Given the description of an element on the screen output the (x, y) to click on. 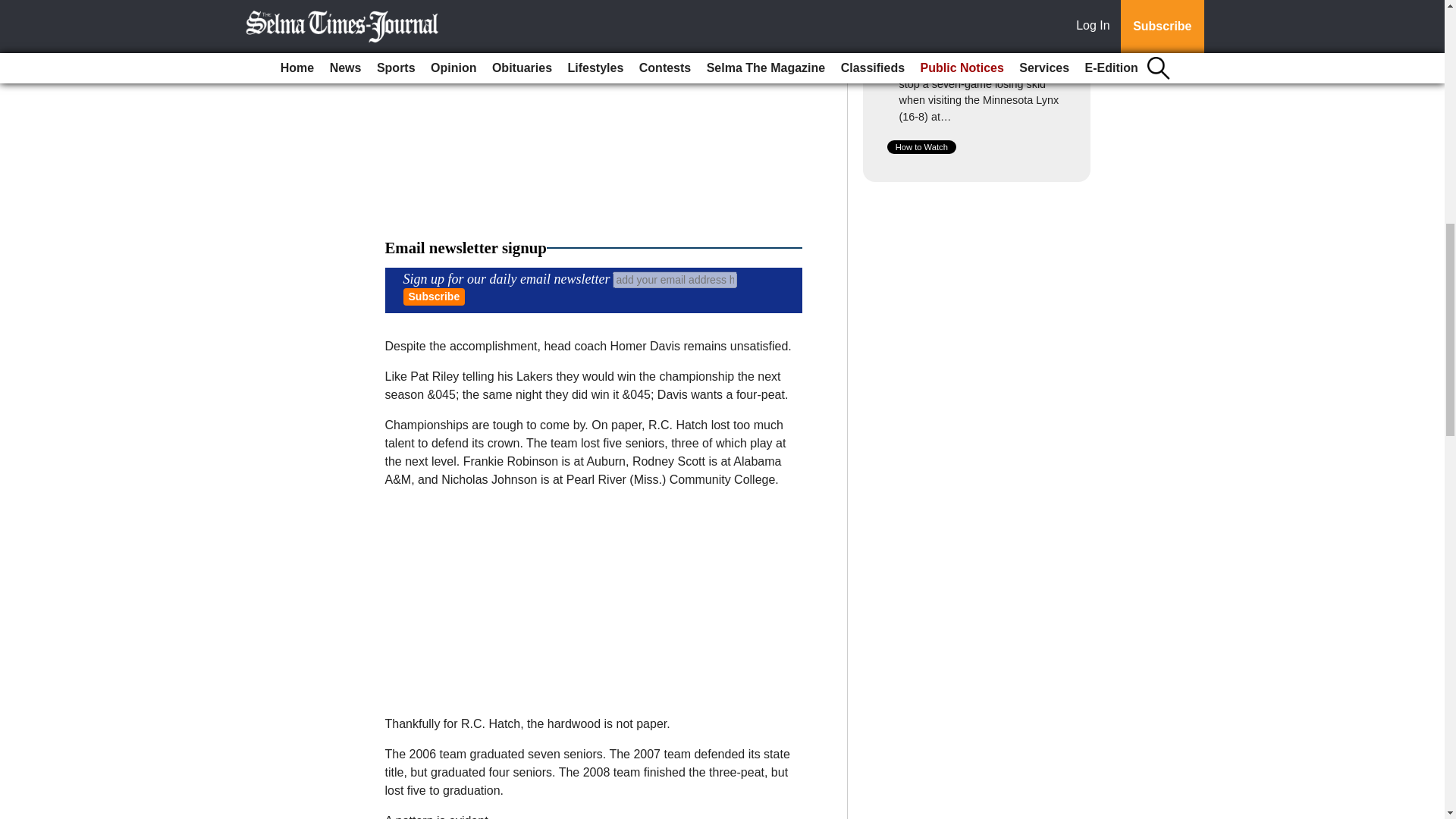
Subscribe (434, 296)
Subscribe (434, 296)
How to Watch (921, 146)
